Given the description of an element on the screen output the (x, y) to click on. 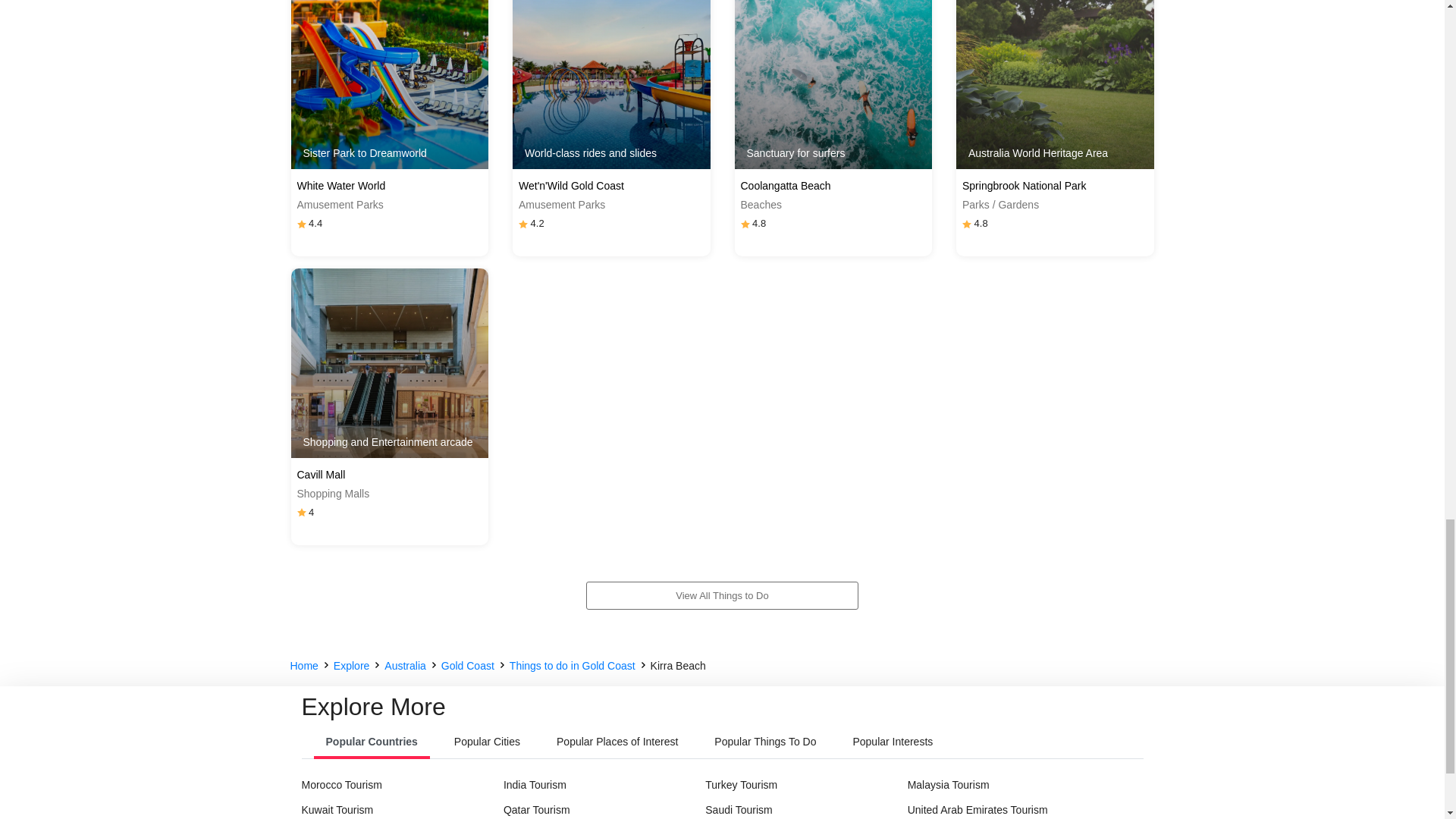
Home (303, 666)
Explore Wet'n'Wild Gold Coast  (611, 84)
Cavill Mall (390, 474)
Beaches (832, 204)
View All Things to Do (722, 595)
Explore White Water World  (390, 84)
Australia (404, 666)
Gold Coast (468, 666)
Things to do in Gold Coast (571, 666)
Sanctuary for surfers (832, 84)
World-class rides and slides (611, 84)
Explore Cavill Mall  (390, 362)
Springbrook National Park (1055, 186)
Shopping and Entertainment arcade (390, 362)
Explore Springbrook National Park  (1055, 84)
